Given the description of an element on the screen output the (x, y) to click on. 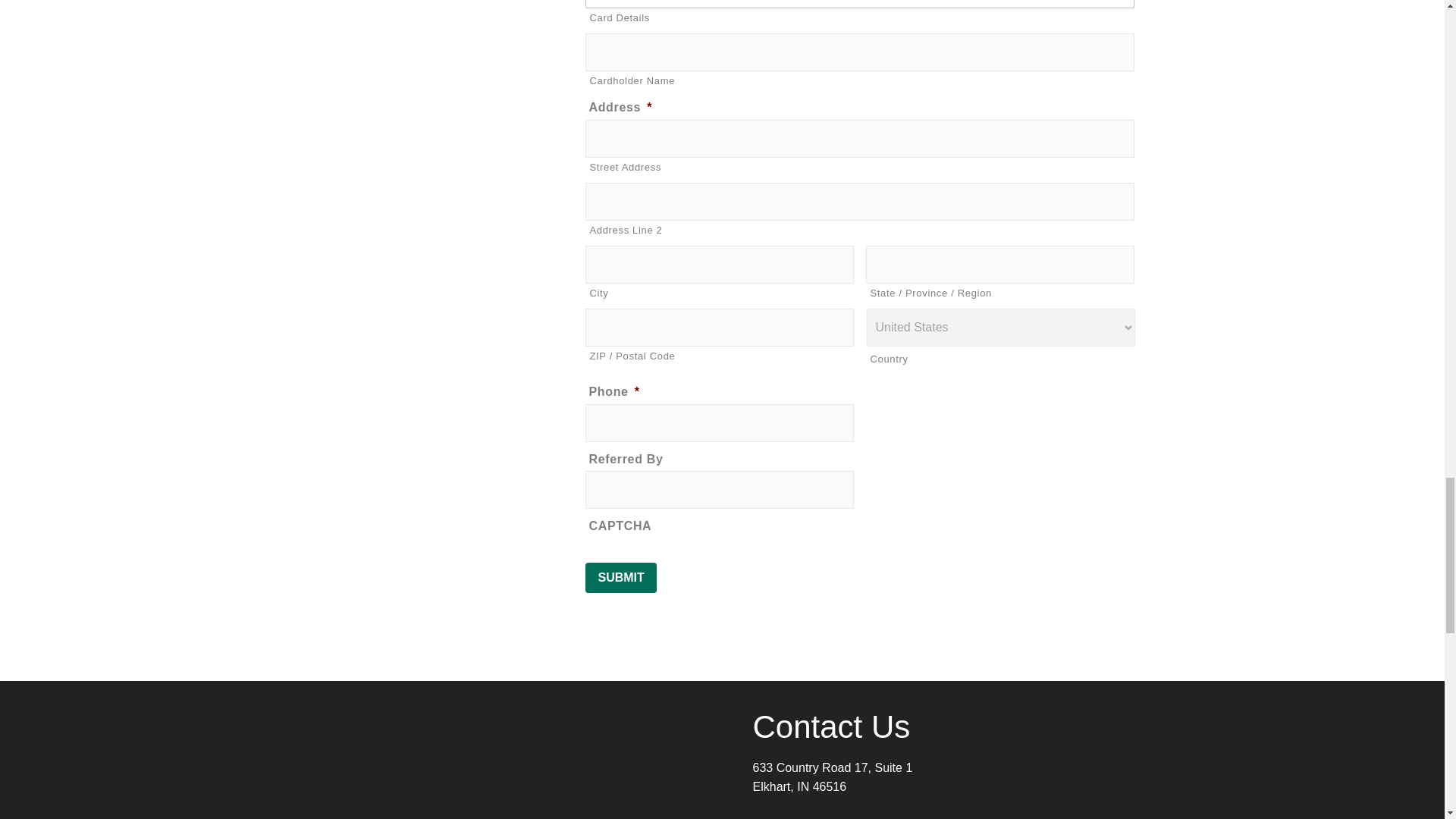
Submit (620, 577)
